Given the description of an element on the screen output the (x, y) to click on. 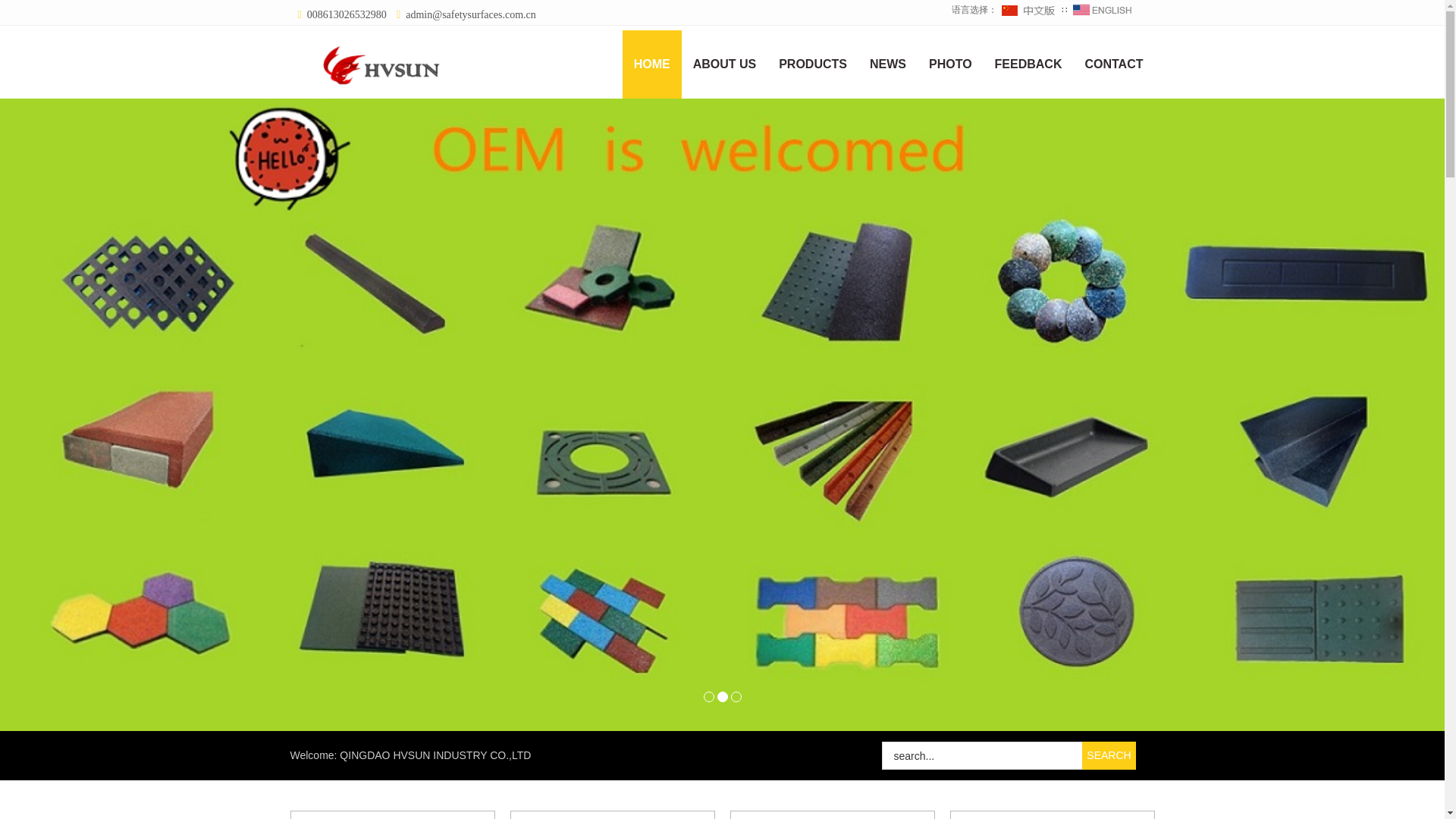
ABOUT US (724, 64)
SEARCH (1108, 755)
SEARCH (1108, 755)
1 (708, 696)
FEEDBACK (1029, 64)
PRODUCTS (813, 64)
CONTACT (1113, 64)
SEARCH (1108, 755)
2 (722, 696)
3 (735, 696)
